Given the description of an element on the screen output the (x, y) to click on. 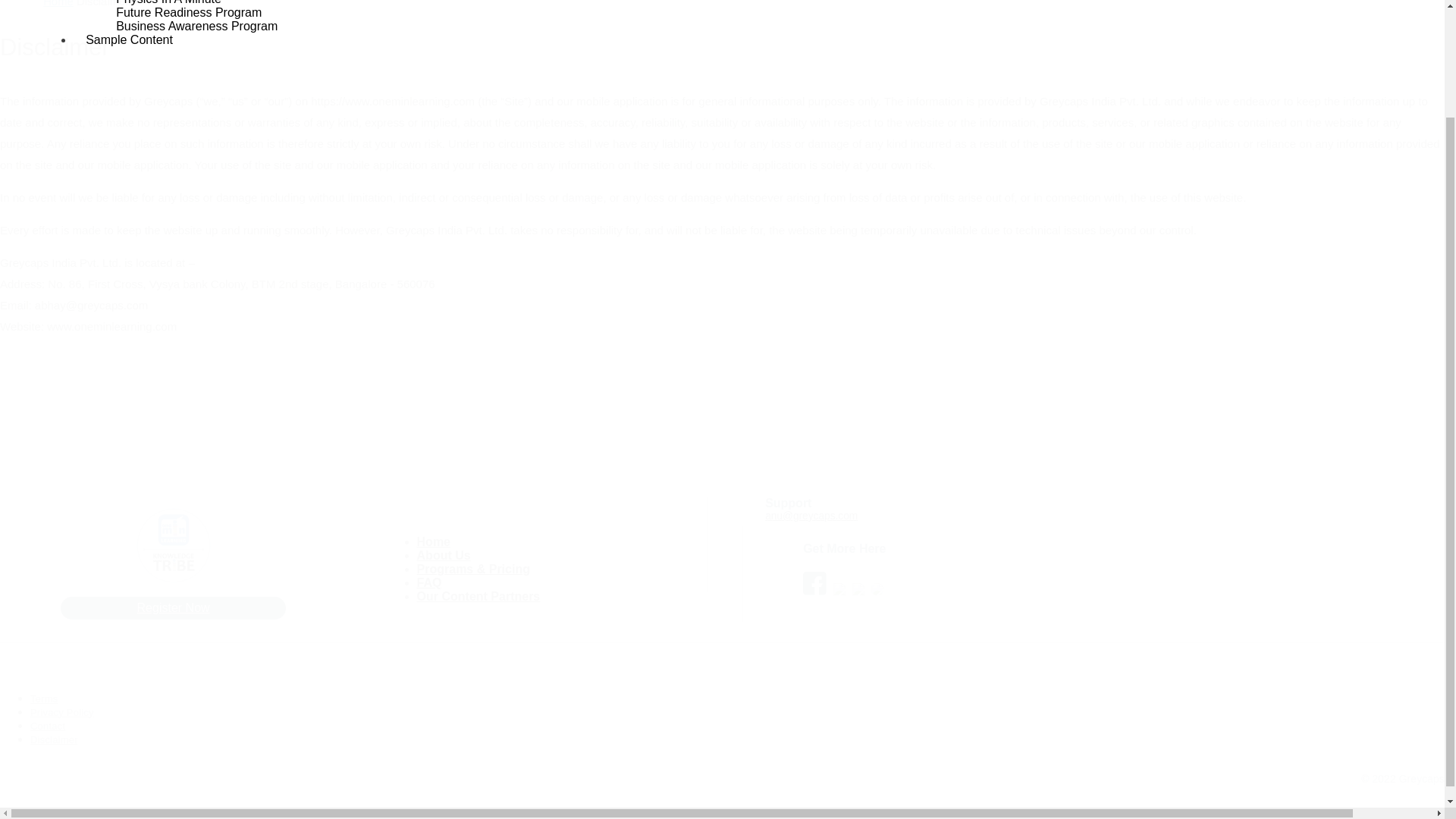
Our Content Partners (478, 599)
FAQ (429, 586)
Home (58, 3)
Register Now (173, 608)
Terms (44, 698)
Physics In A Minute (167, 2)
About Us (443, 559)
Home (432, 545)
Sample Content (129, 39)
Future Readiness Program (188, 11)
Business Awareness Program (196, 25)
